Given the description of an element on the screen output the (x, y) to click on. 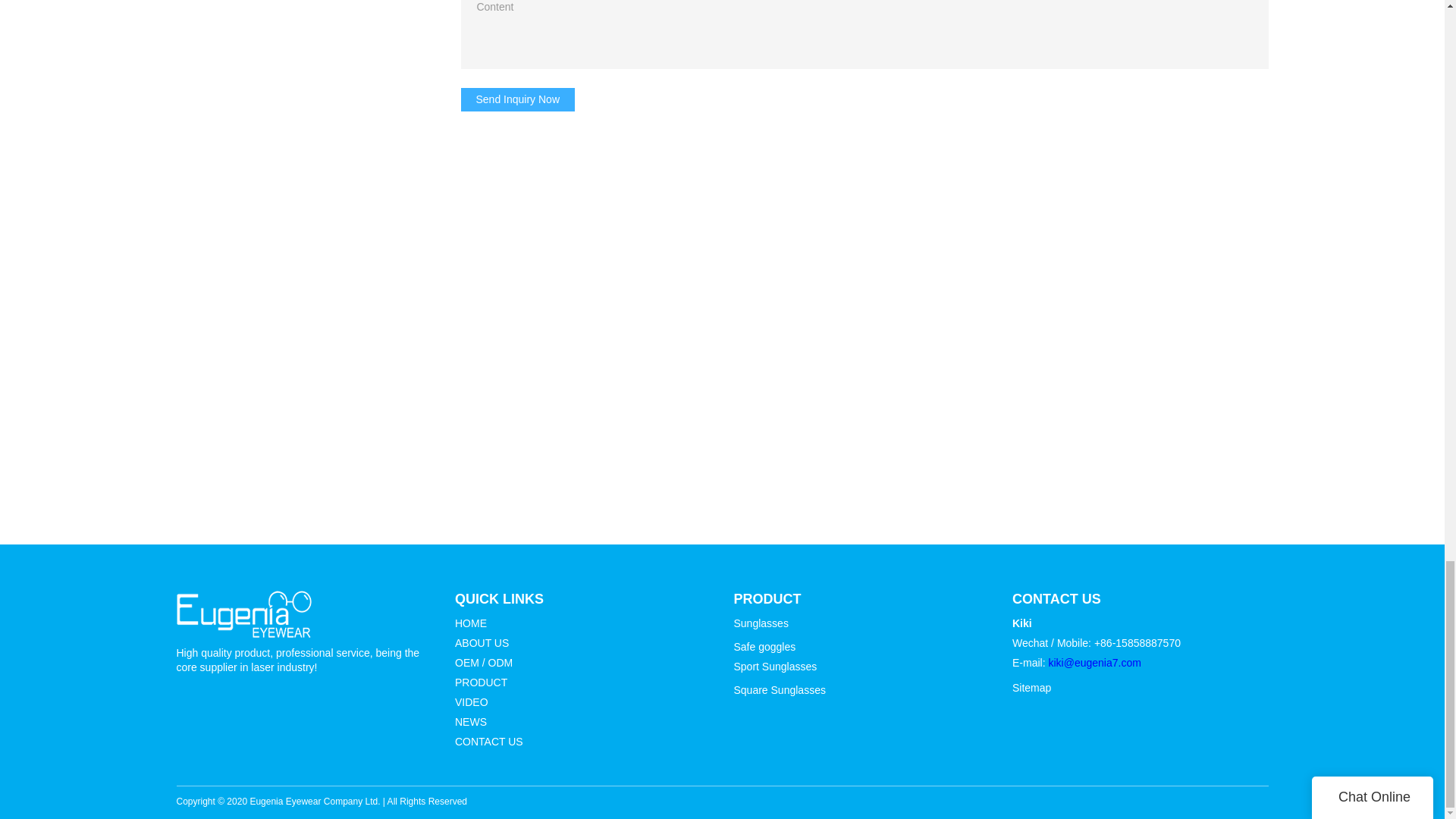
Send Inquiry Now (518, 98)
